Given the description of an element on the screen output the (x, y) to click on. 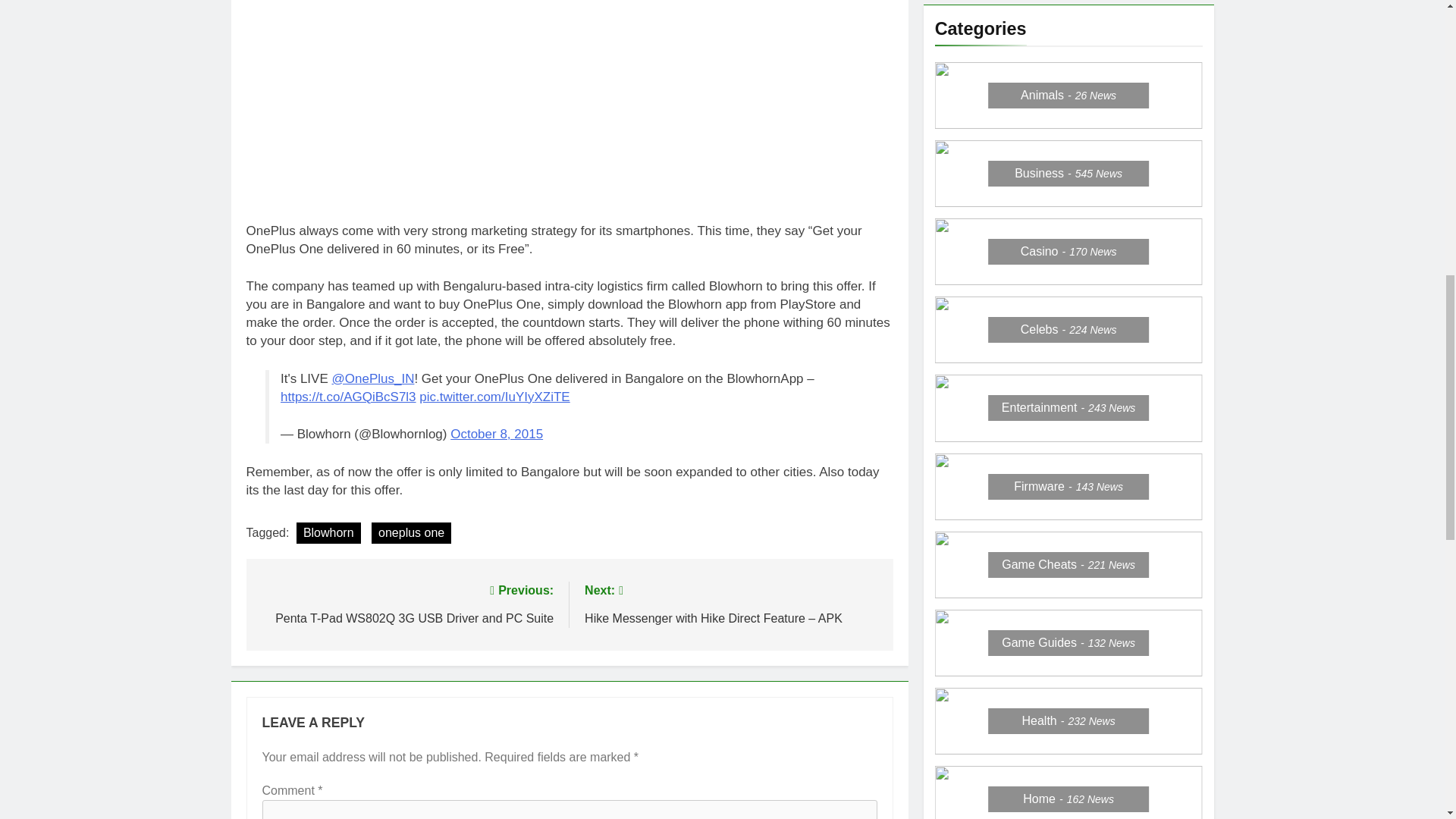
October 8, 2015 (496, 433)
oneplus one (411, 532)
Blowhorn (406, 602)
